Given the description of an element on the screen output the (x, y) to click on. 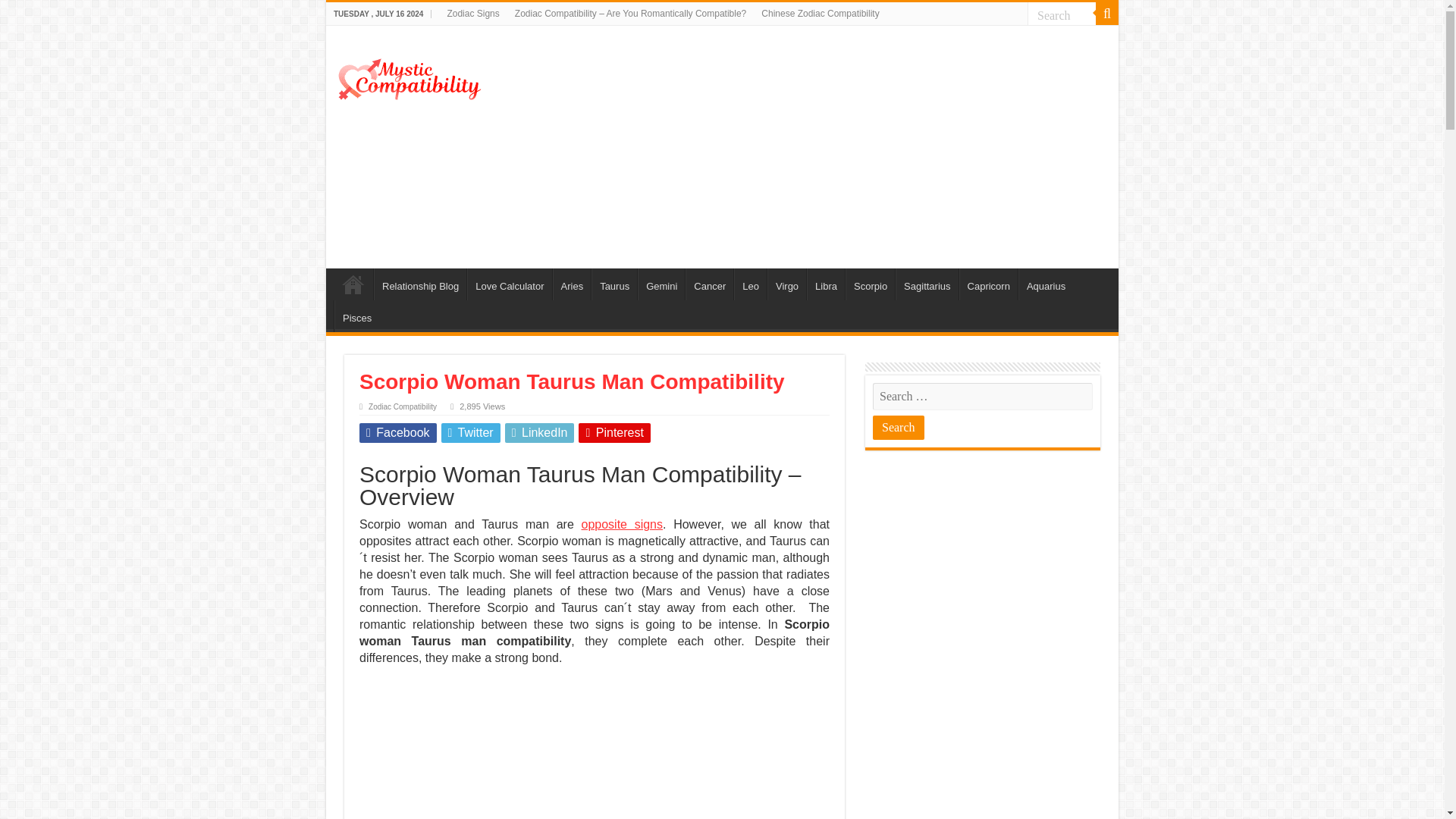
Pisces (356, 316)
Relationship Blog (419, 284)
Capricorn (988, 284)
Taurus (614, 284)
Search (1061, 15)
Aries (572, 284)
Sagittarius (926, 284)
Cancer (709, 284)
Search (898, 427)
Aquarius (1045, 284)
Search (1061, 15)
Scorpio (870, 284)
Chinese Zodiac Compatibility (820, 13)
Compatibility (352, 284)
Search (1107, 13)
